Given the description of an element on the screen output the (x, y) to click on. 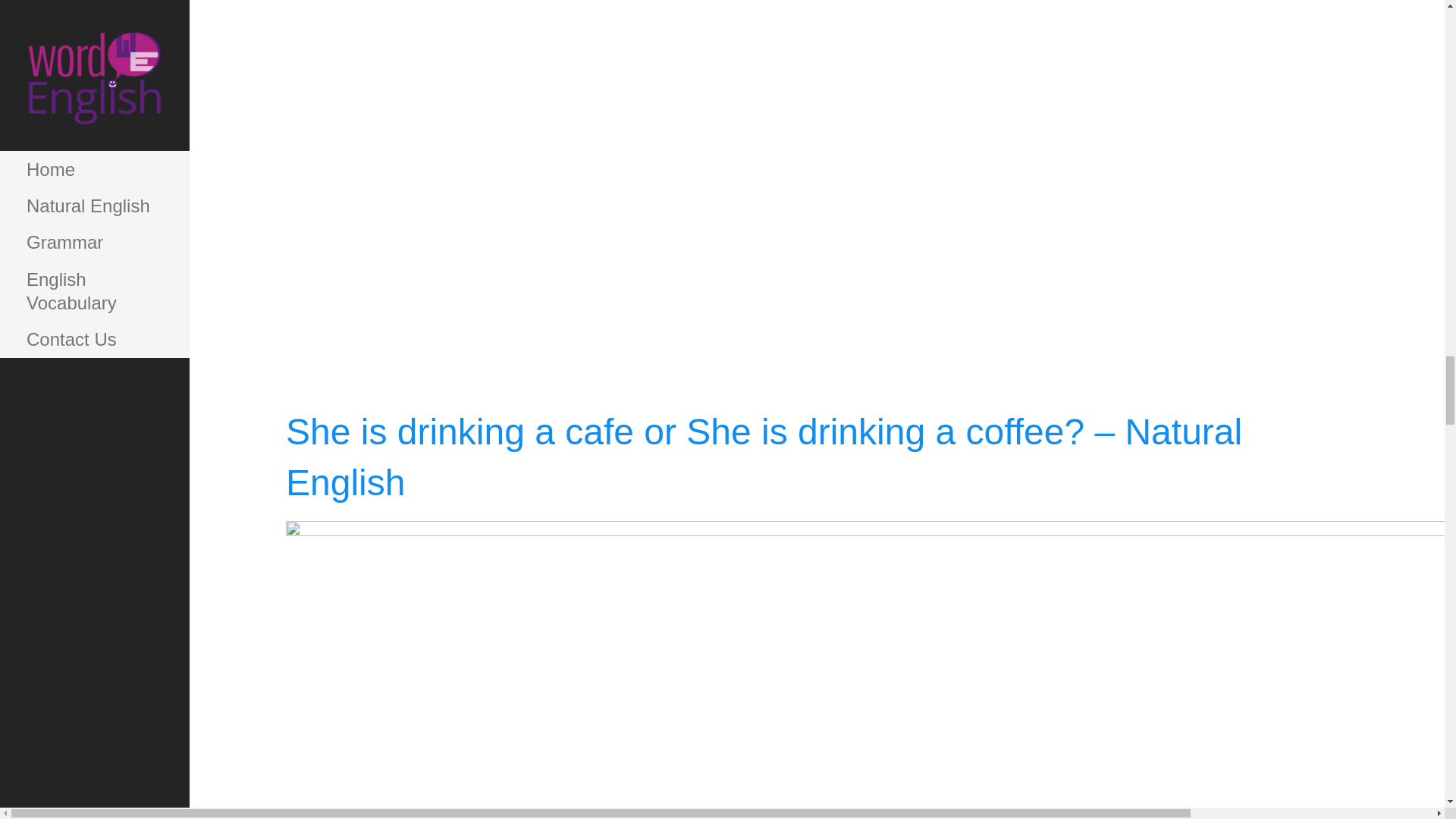
4 English Words For Privacy (686, 91)
